Given the description of an element on the screen output the (x, y) to click on. 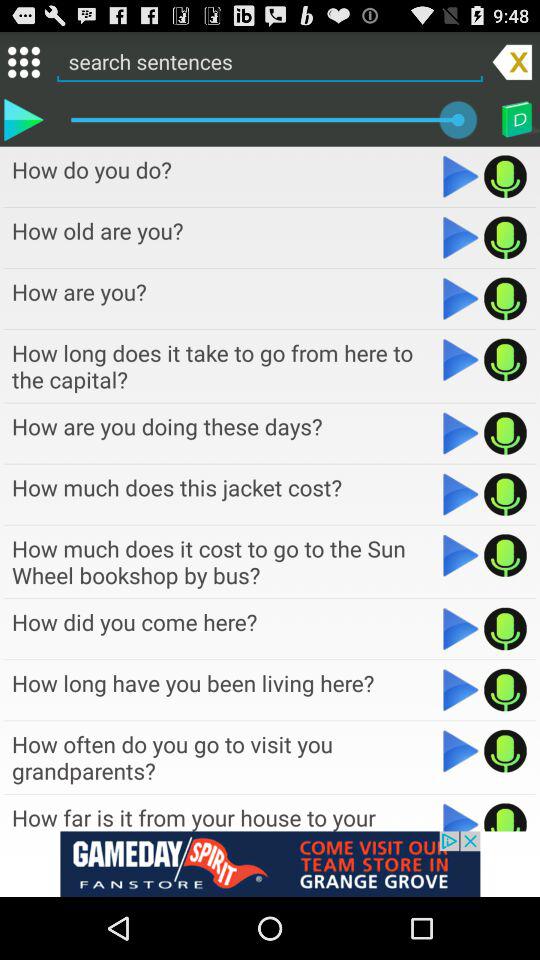
play sentence (460, 176)
